Given the description of an element on the screen output the (x, y) to click on. 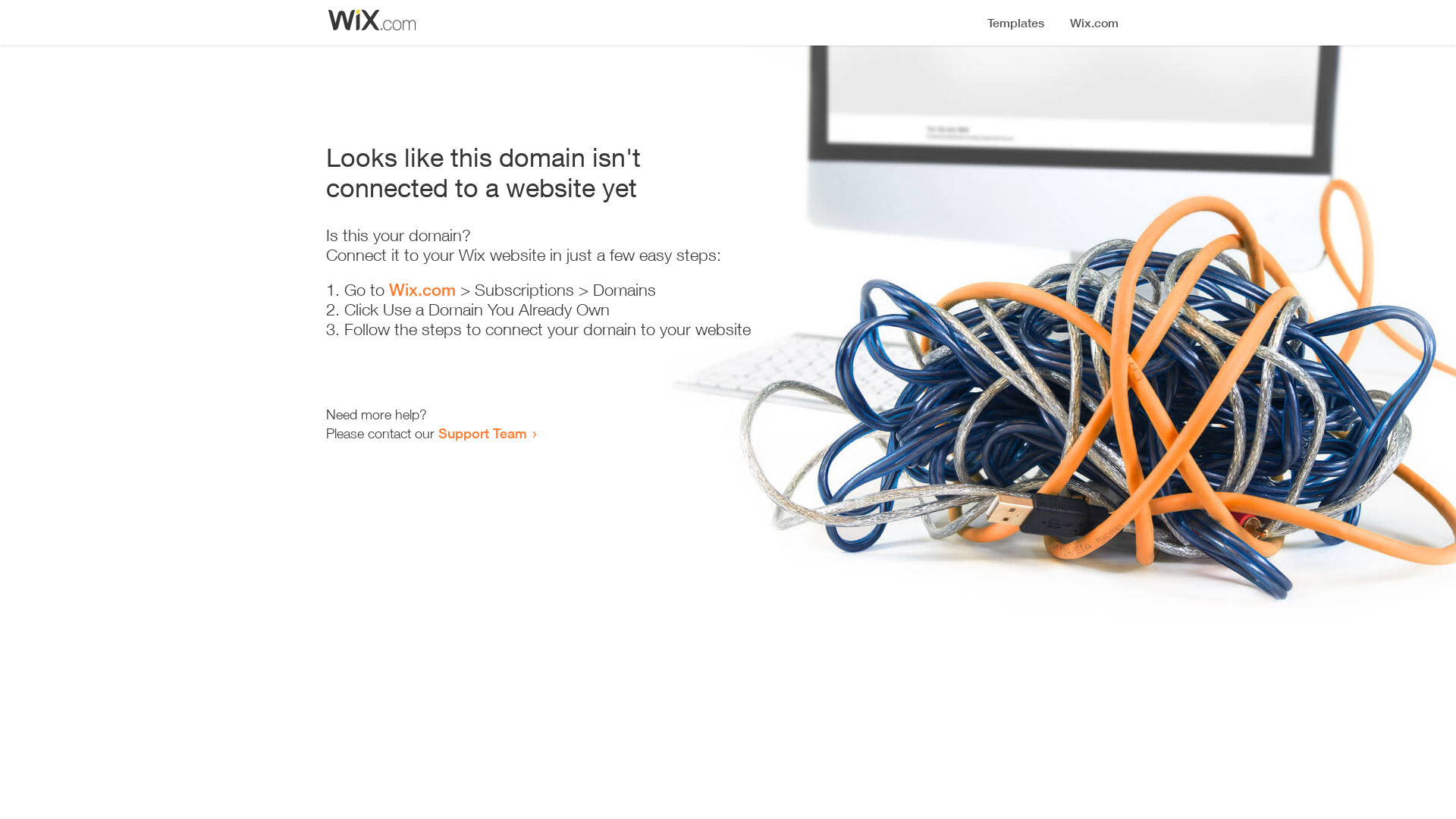
Support Team Element type: text (482, 432)
Wix.com Element type: text (422, 289)
